Given the description of an element on the screen output the (x, y) to click on. 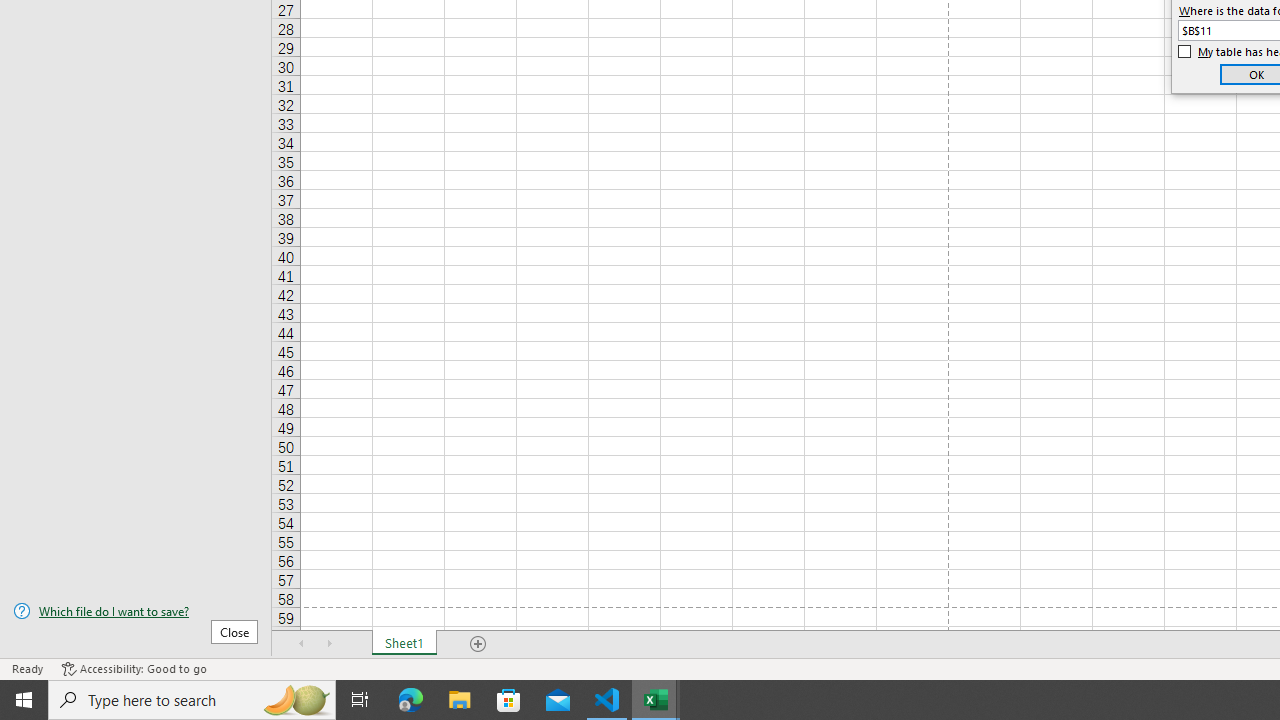
Which file do I want to save? (136, 611)
